Given the description of an element on the screen output the (x, y) to click on. 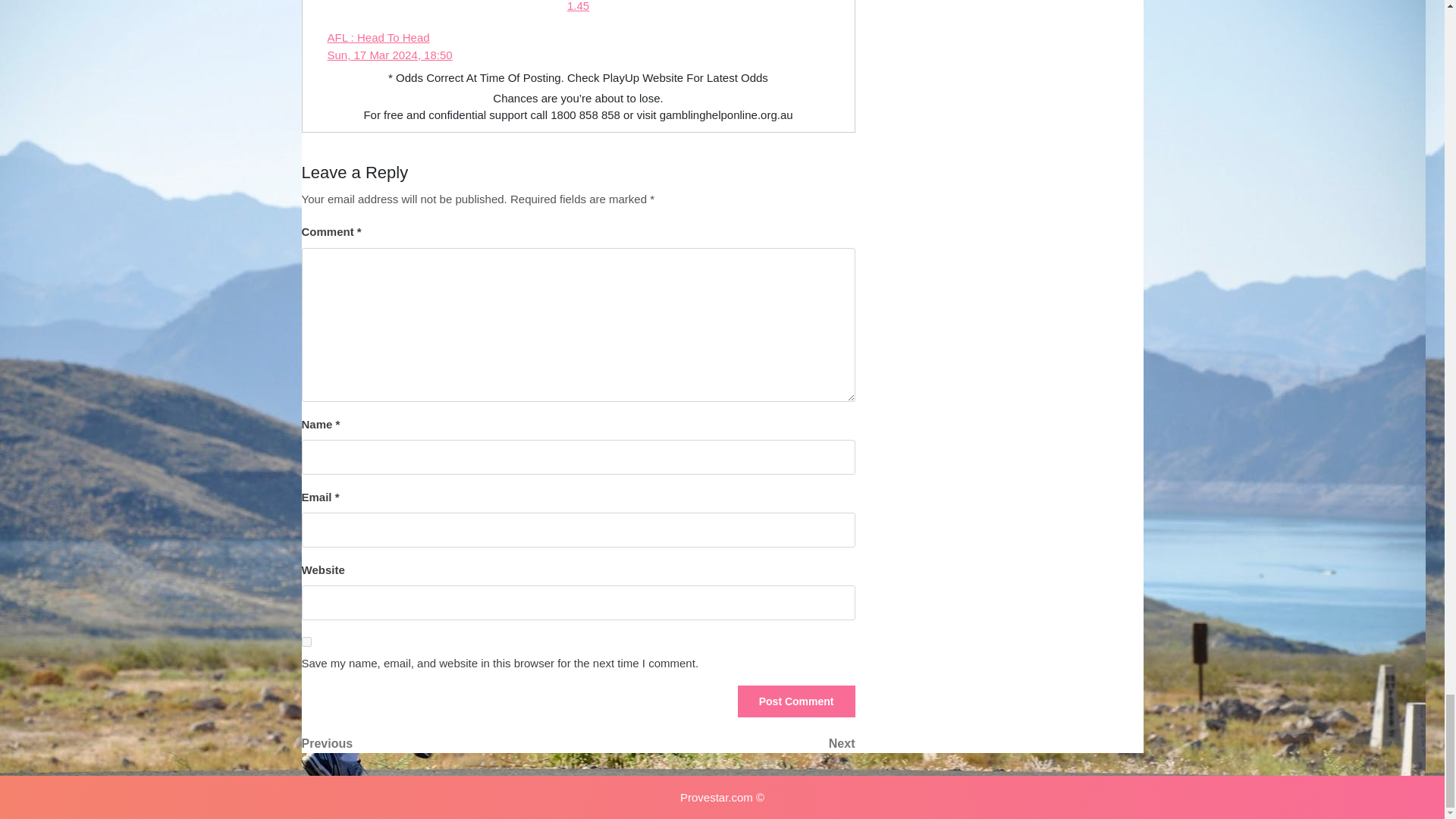
yes (306, 642)
Post Comment (797, 701)
